Given the description of an element on the screen output the (x, y) to click on. 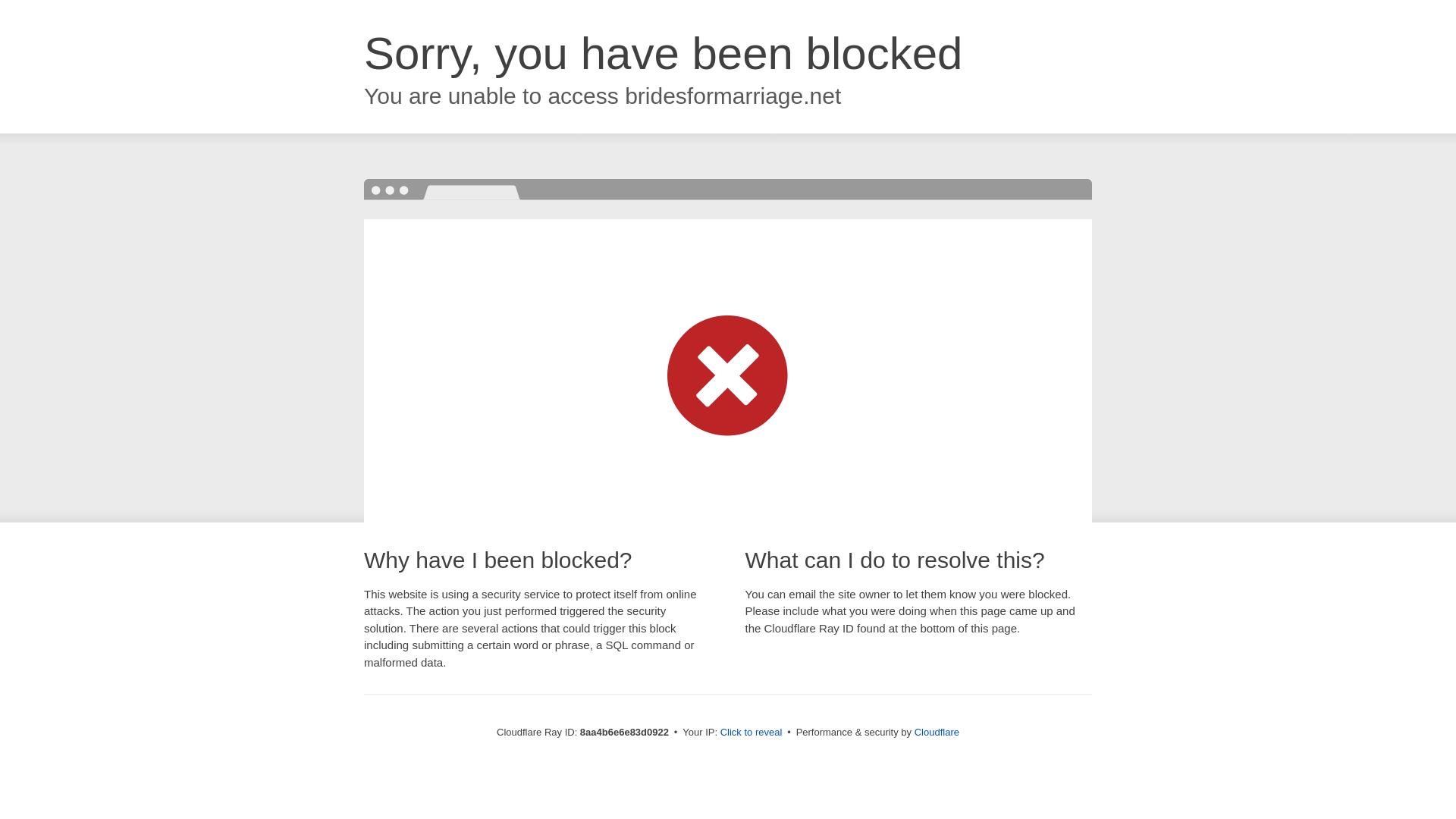
Click to reveal (751, 732)
Cloudflare (936, 731)
